Given the description of an element on the screen output the (x, y) to click on. 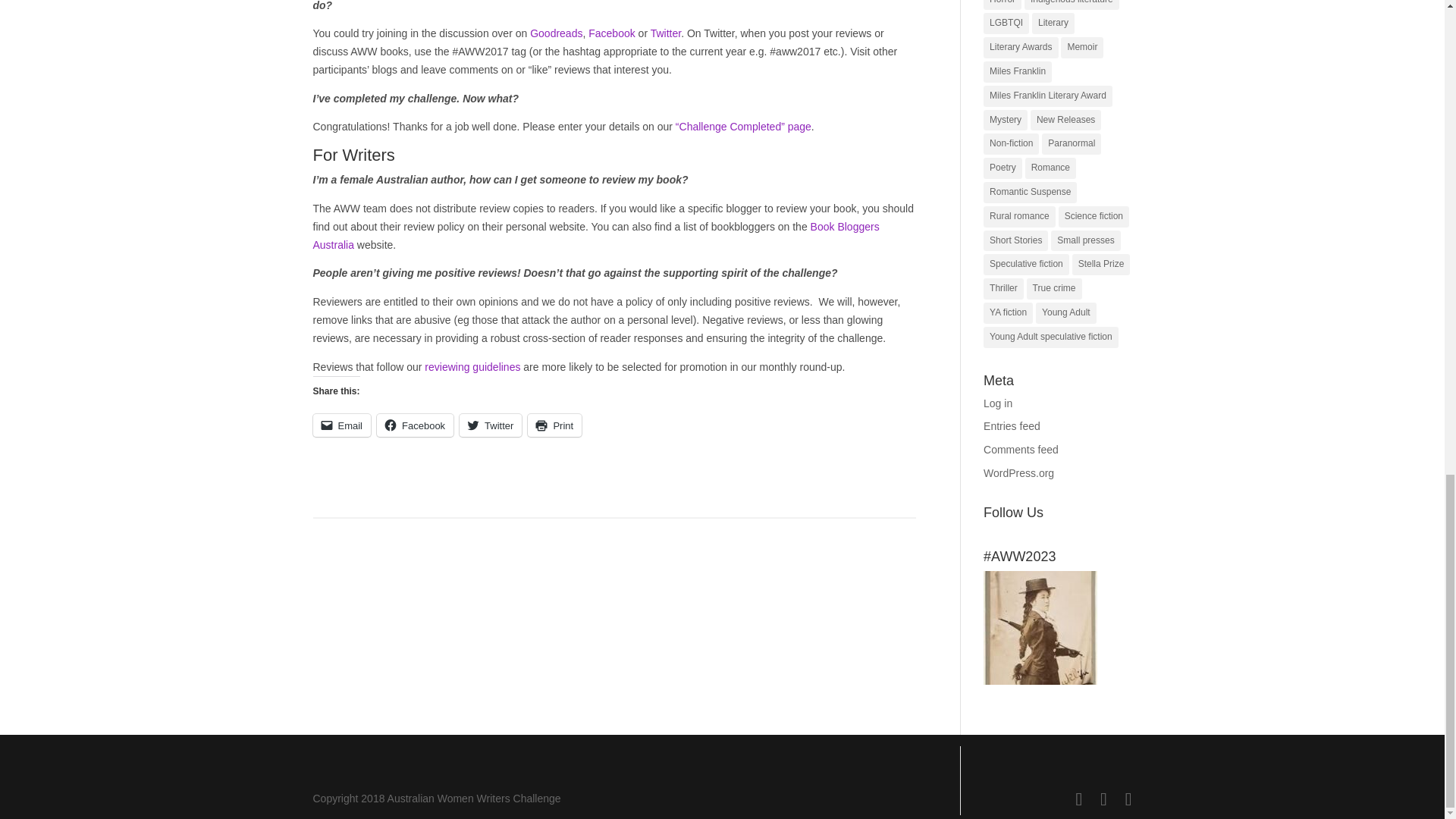
Click to print (553, 425)
Click to email a link to a friend (342, 425)
Click to share on Twitter (490, 425)
Click to share on Facebook (414, 425)
